Given the description of an element on the screen output the (x, y) to click on. 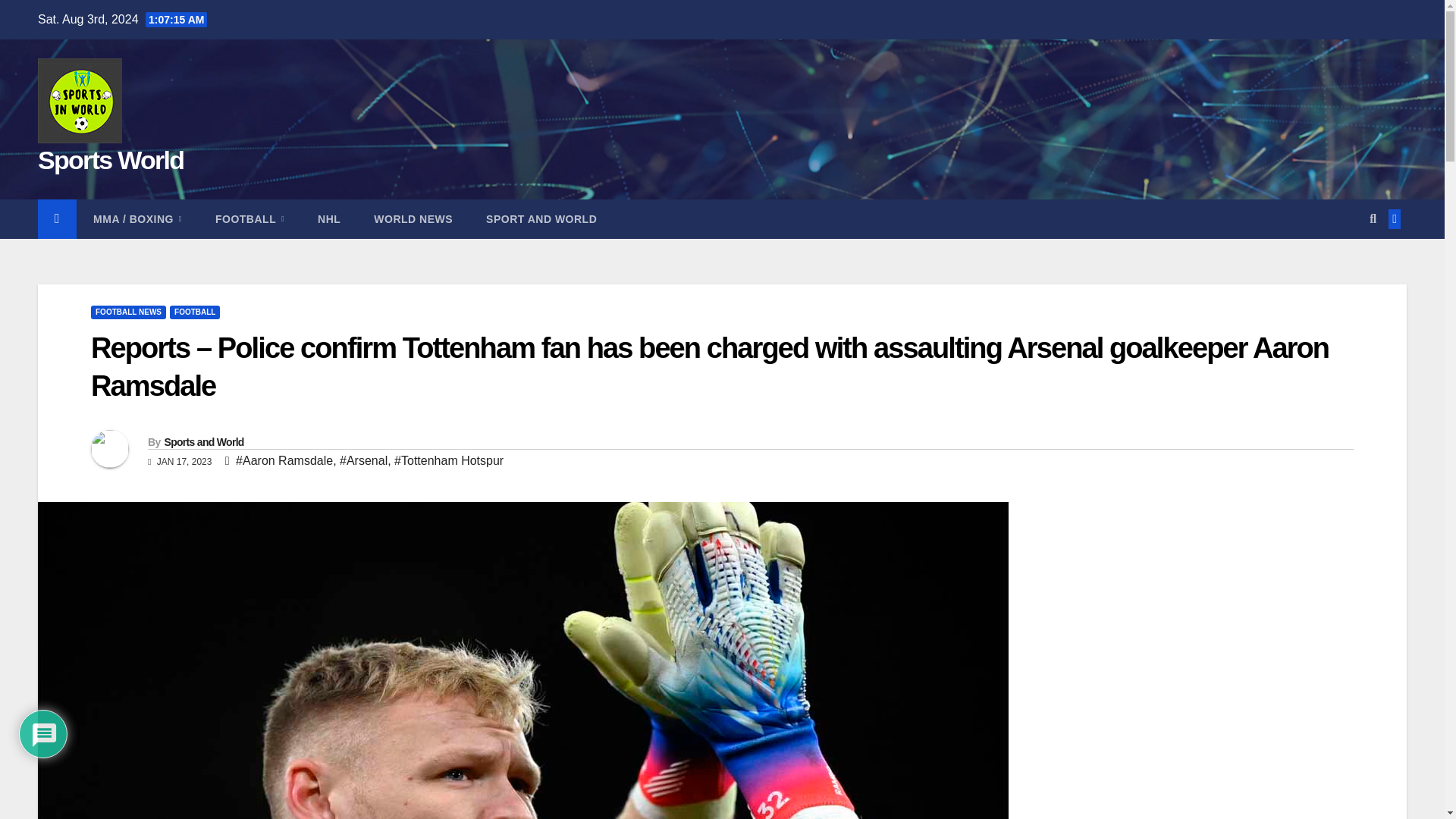
WORLD NEWS (412, 219)
FOOTBALL NEWS (127, 312)
NHL (328, 219)
Football (249, 219)
Sports World (110, 159)
SPORT AND WORLD (540, 219)
FOOTBALL (194, 312)
Sports and World (203, 441)
FOOTBALL (249, 219)
World news (412, 219)
Sport and world (540, 219)
NHL (328, 219)
